Given the description of an element on the screen output the (x, y) to click on. 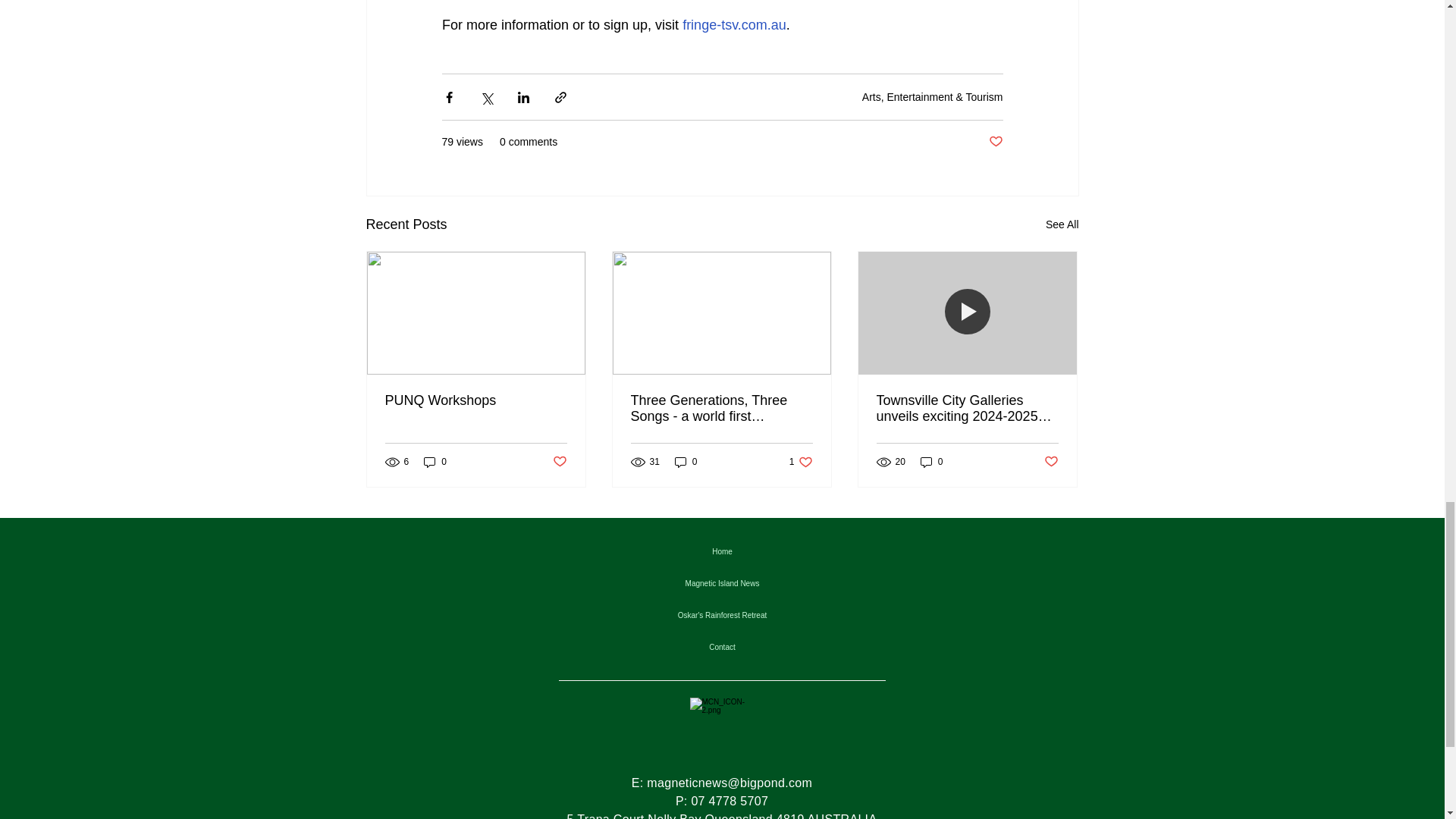
Post not marked as liked (800, 462)
See All (995, 141)
Post not marked as liked (1061, 224)
0 (1050, 462)
0 (685, 462)
Post not marked as liked (435, 462)
Three Generations, Three Songs - a world first performance (558, 462)
PUNQ Workshops (721, 409)
